Given the description of an element on the screen output the (x, y) to click on. 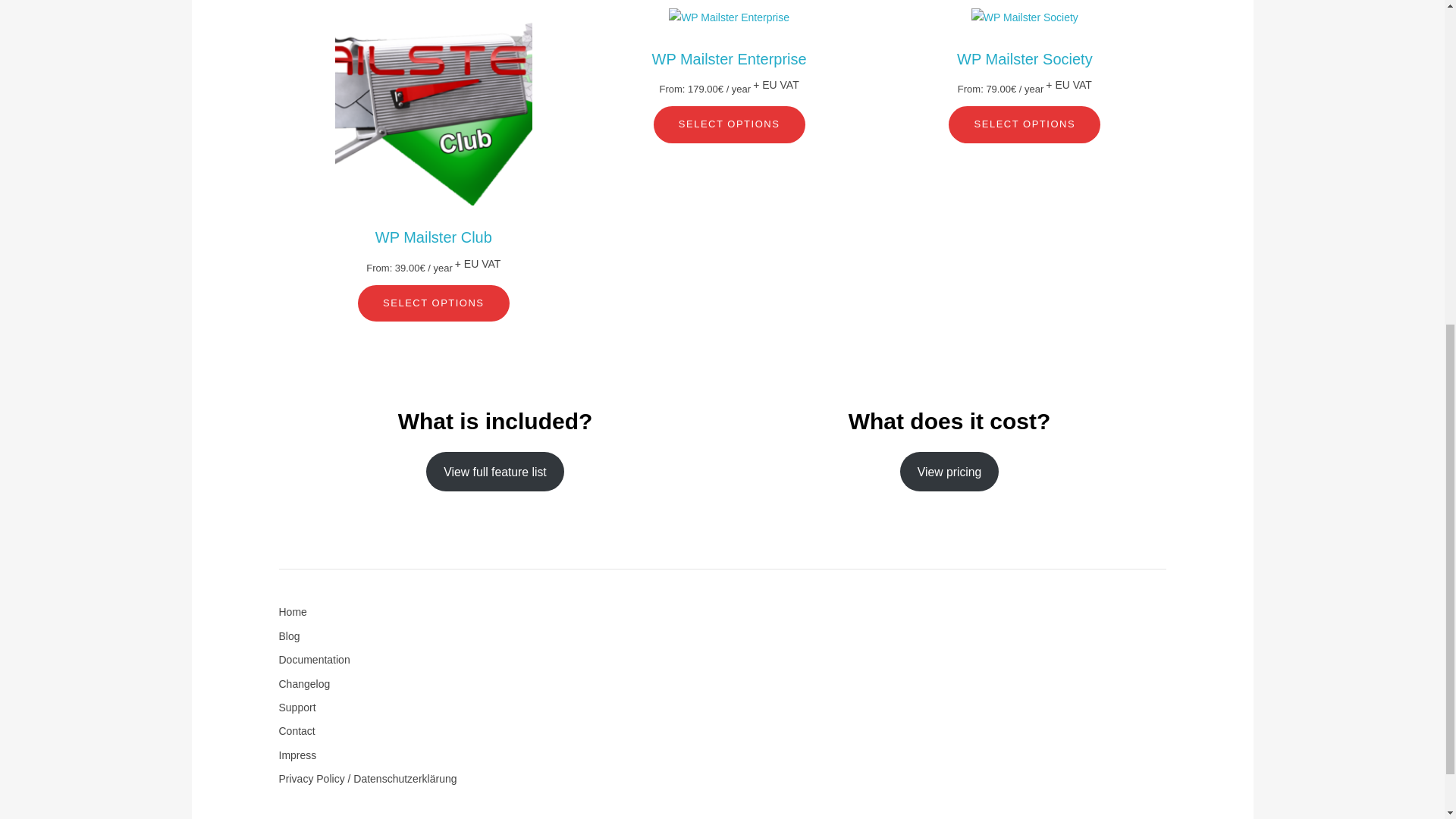
Impress (298, 755)
WP Mailster Club (433, 237)
View pricing (948, 471)
Contact (297, 730)
SELECT OPTIONS (433, 303)
SELECT OPTIONS (729, 124)
Changelog (304, 684)
Support (297, 707)
View full feature list (494, 471)
WP Mailster Enterprise (729, 58)
